Given the description of an element on the screen output the (x, y) to click on. 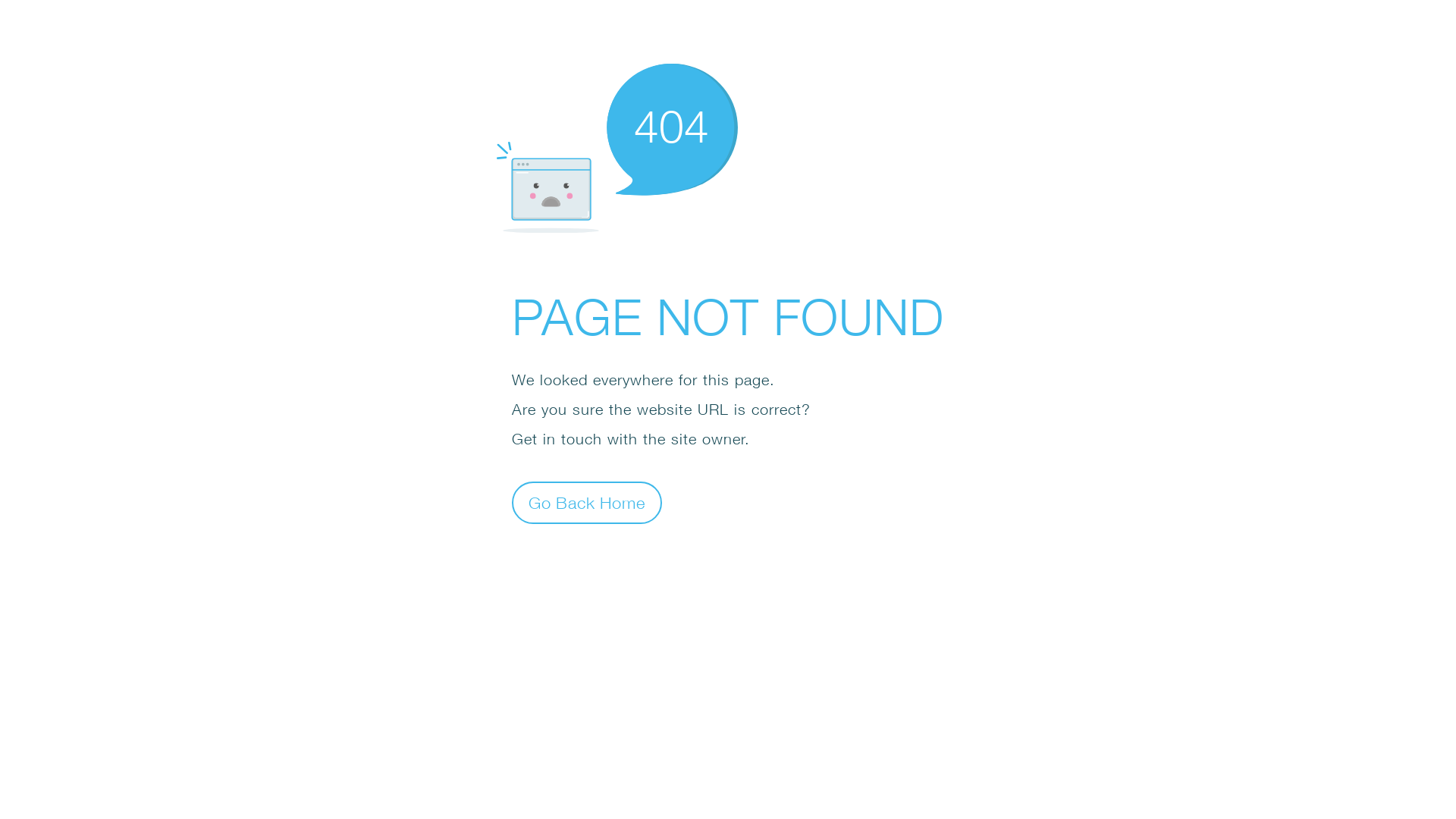
Go Back Home Element type: text (586, 502)
